Given the description of an element on the screen output the (x, y) to click on. 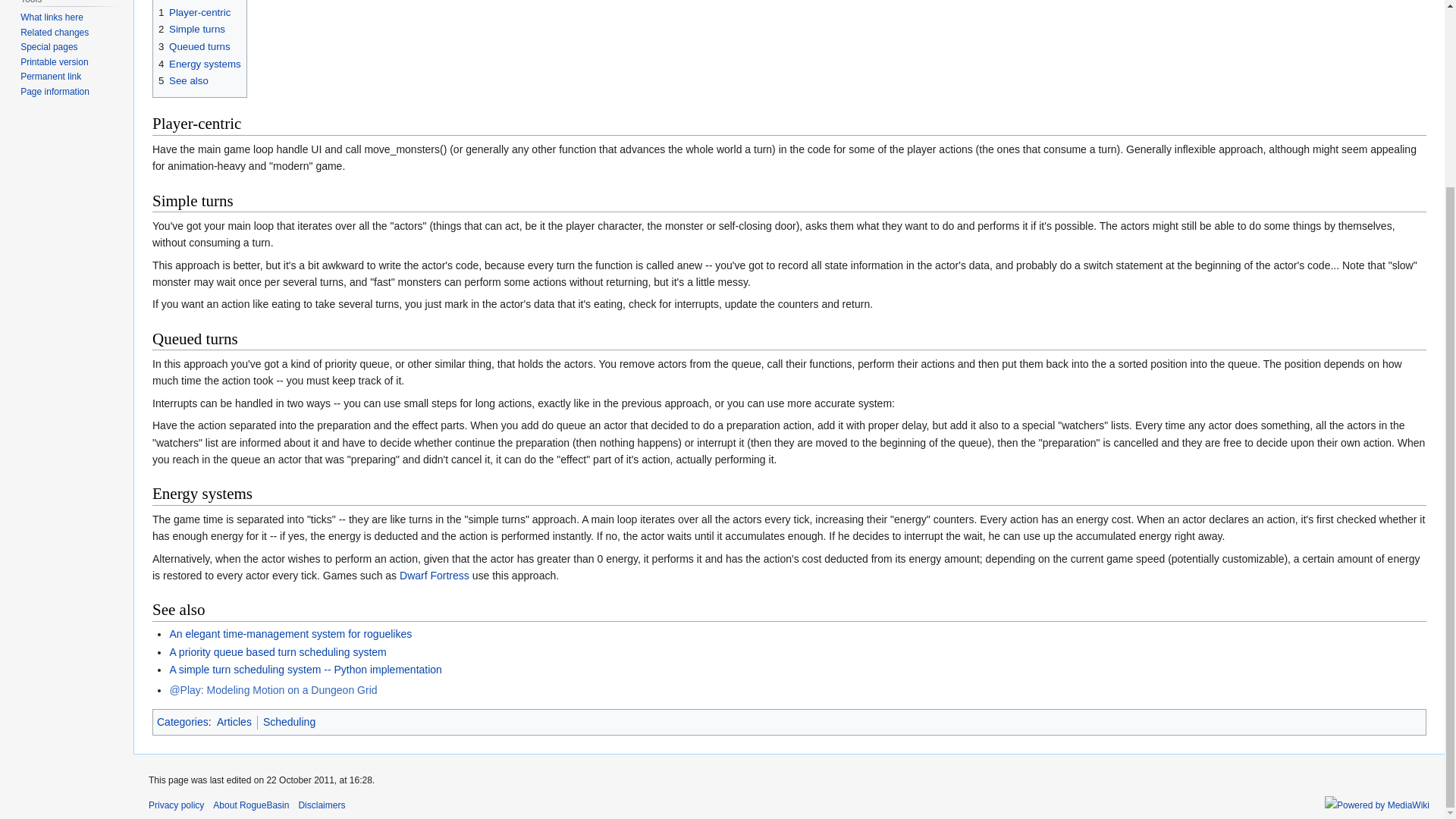
Special pages (48, 46)
Special:Categories (182, 721)
Category:Scheduling (289, 721)
5 See also (183, 80)
1 Player-centric (194, 12)
2 Simple turns (191, 29)
An elegant time-management system for roguelikes (290, 633)
A simple turn scheduling system -- Python implementation (305, 669)
3 Queued turns (194, 46)
A priority queue based turn scheduling system (276, 652)
Dwarf Fortress (433, 575)
A simple turn scheduling system -- Python implementation (305, 669)
Articles (233, 721)
Categories (182, 721)
An elegant time-management system for roguelikes (290, 633)
